Given the description of an element on the screen output the (x, y) to click on. 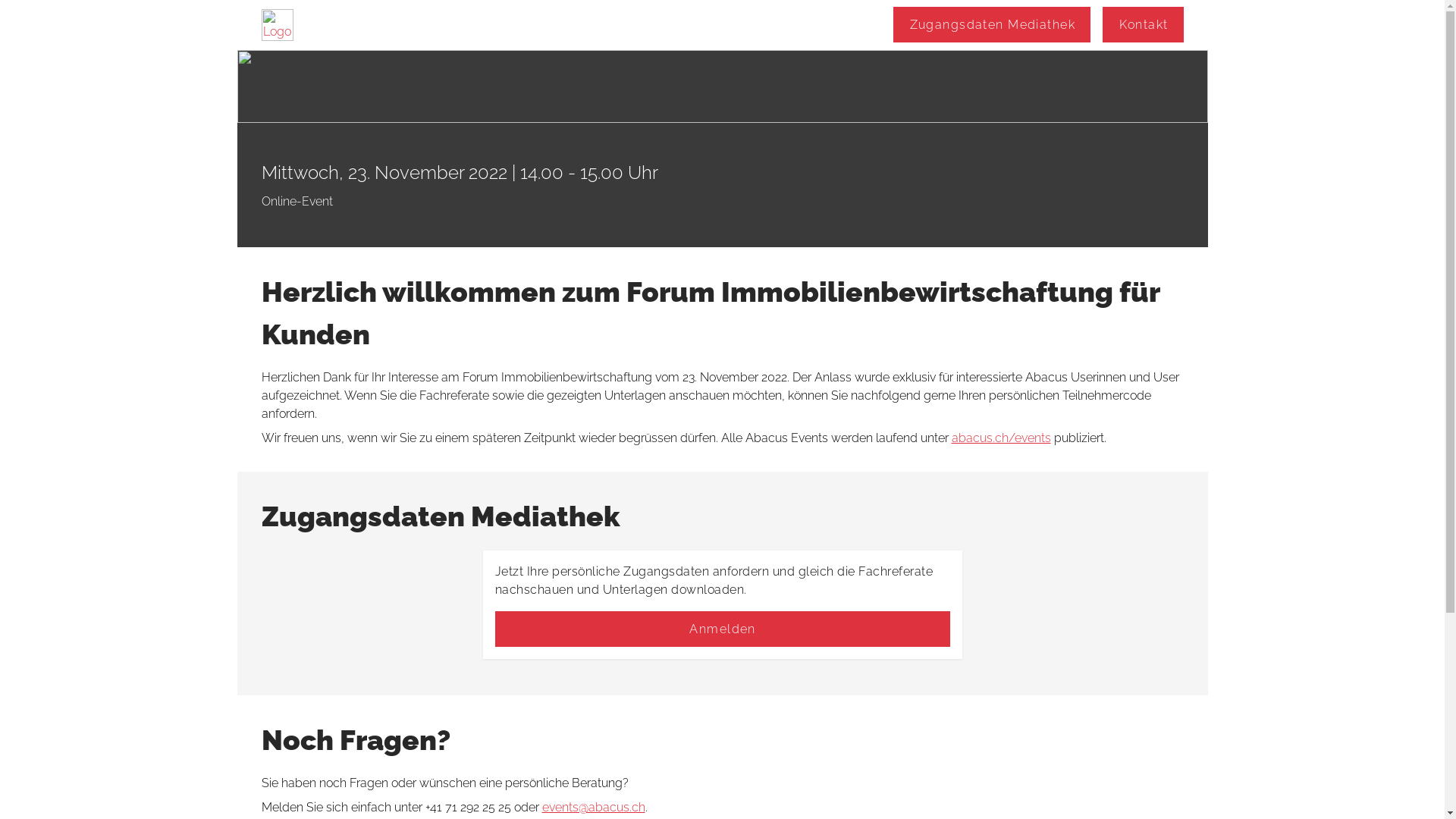
abacus.ch/events Element type: text (1000, 437)
Zugangsdaten Mediathek Element type: text (991, 24)
events@abacus.ch Element type: text (592, 807)
Kontakt Element type: text (1142, 24)
Anmelden Element type: text (721, 628)
